Given the description of an element on the screen output the (x, y) to click on. 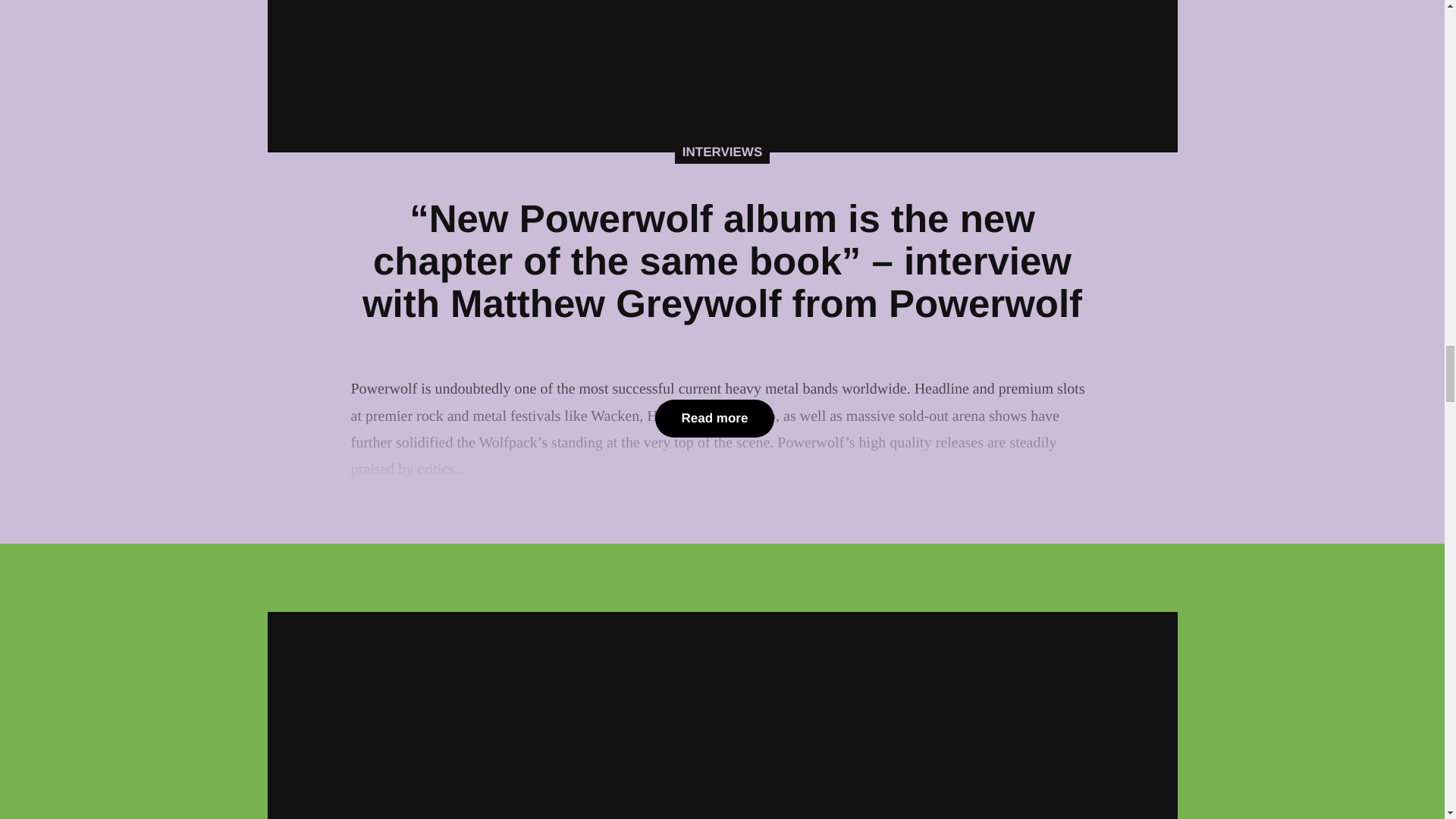
INTERVIEWS (722, 151)
